Given the description of an element on the screen output the (x, y) to click on. 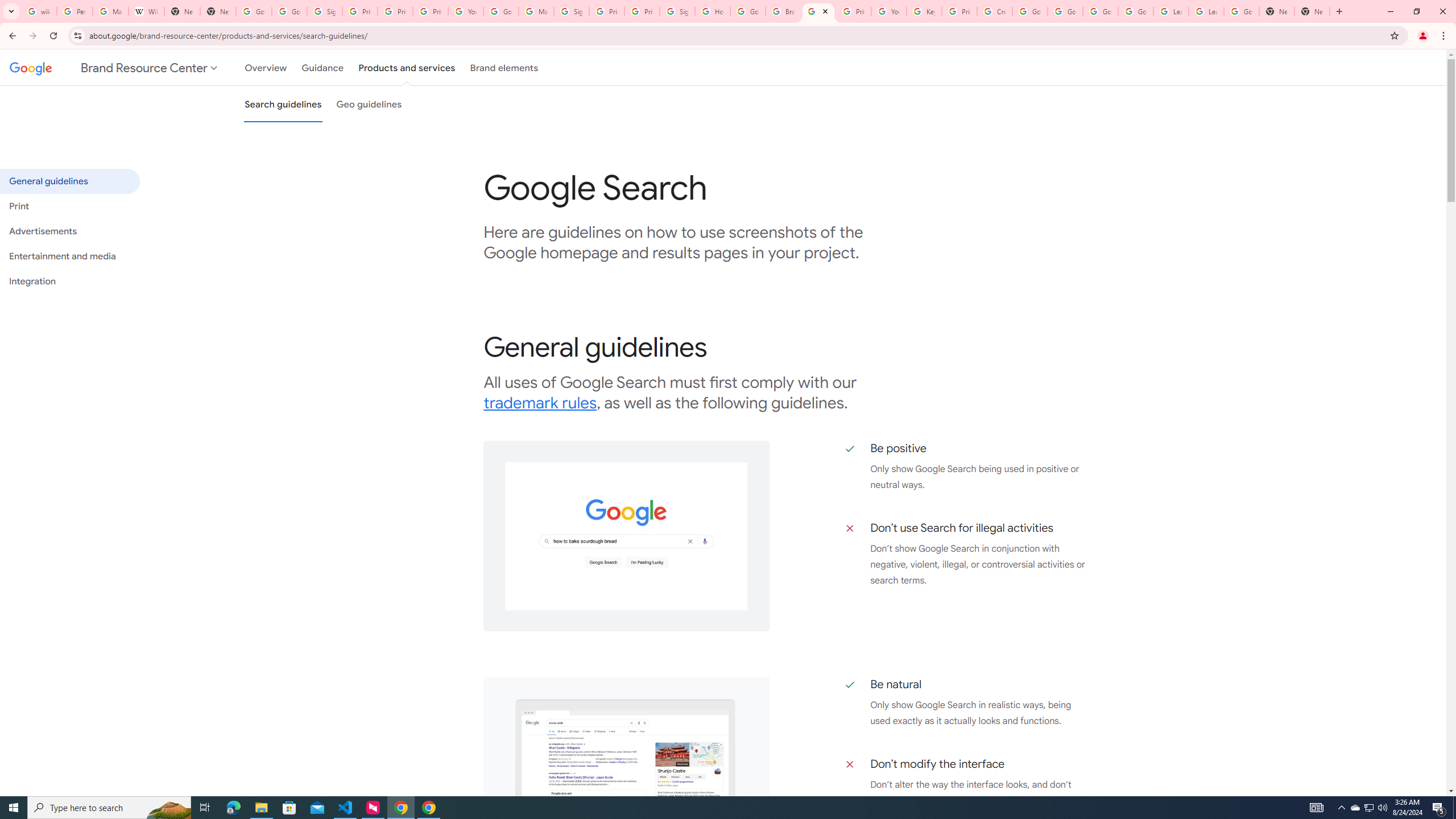
YouTube (465, 11)
Google site switcher (114, 67)
General guidelines (69, 181)
Integration (69, 281)
Google Account Help (1099, 11)
Sign in - Google Accounts (324, 11)
New Tab (1312, 11)
